Given the description of an element on the screen output the (x, y) to click on. 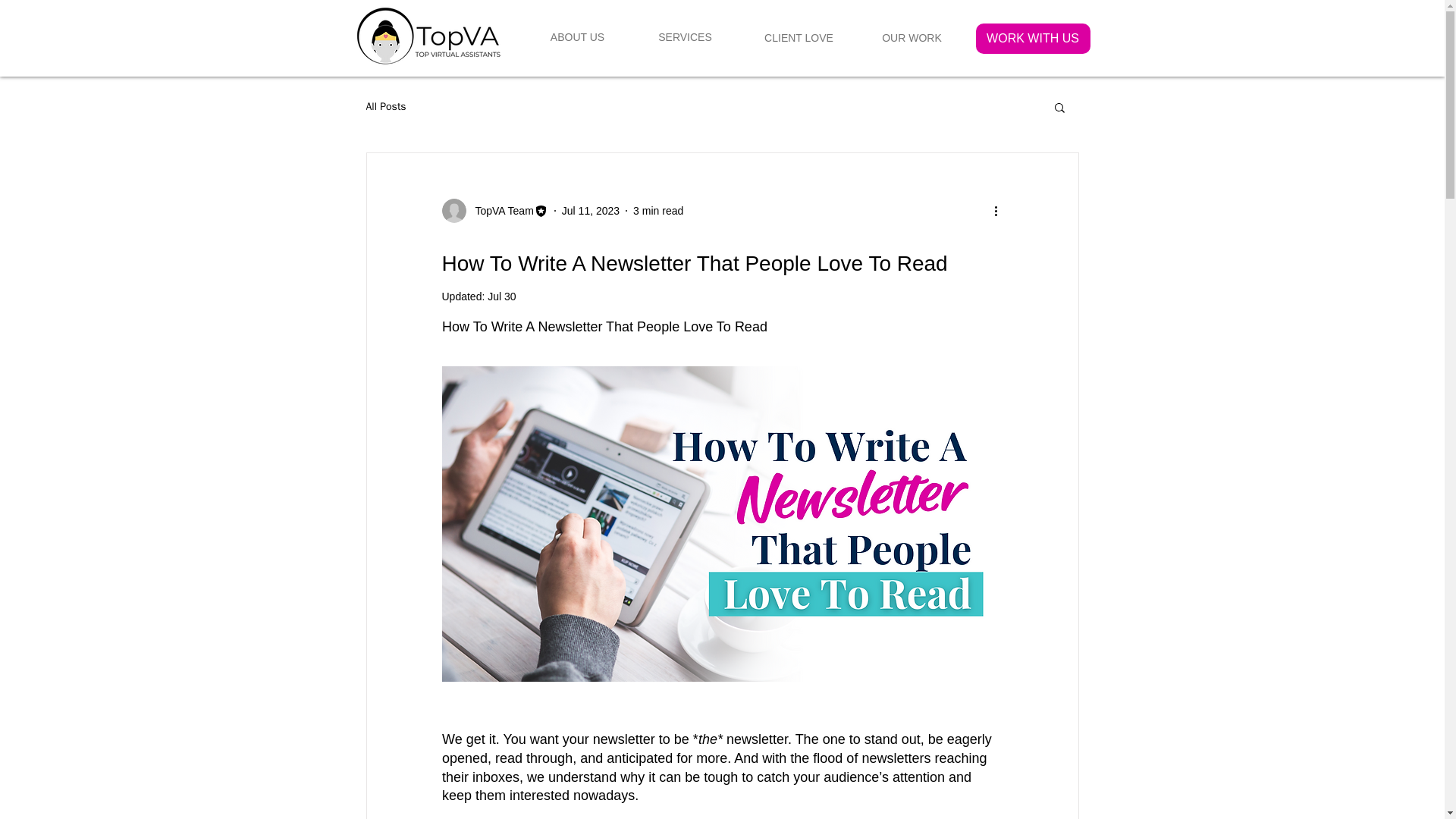
CLIENT LOVE (798, 38)
SERVICES (684, 37)
OUR WORK (912, 38)
Jul 11, 2023 (591, 210)
Jul 30 (501, 296)
WORK WITH US (1032, 38)
TopVA Team (494, 210)
3 min read (657, 210)
TopVA Team (498, 211)
ABOUT US (576, 37)
All Posts (385, 106)
